Given the description of an element on the screen output the (x, y) to click on. 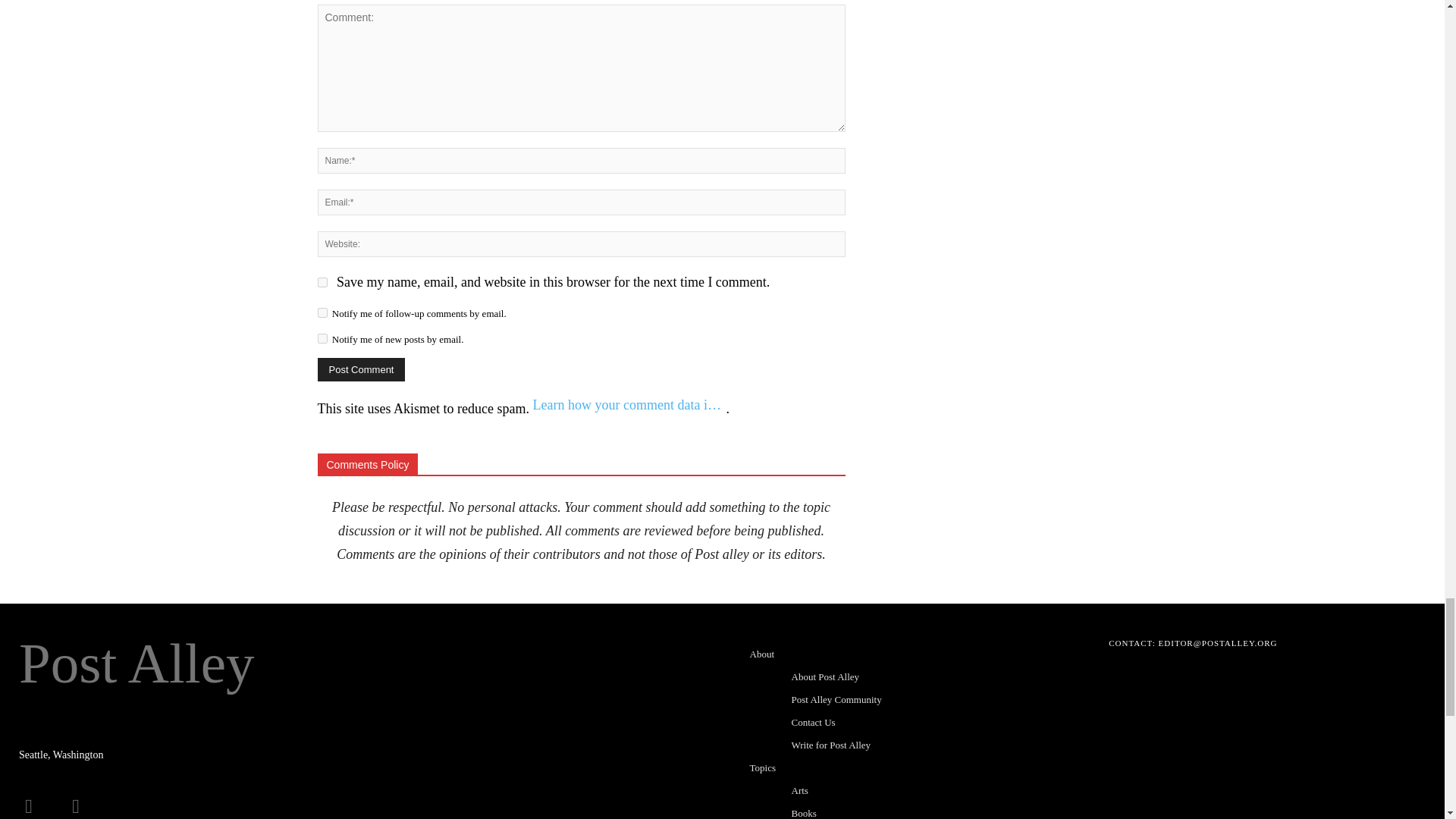
Post Comment (360, 369)
subscribe (321, 338)
subscribe (321, 312)
yes (321, 282)
